Given the description of an element on the screen output the (x, y) to click on. 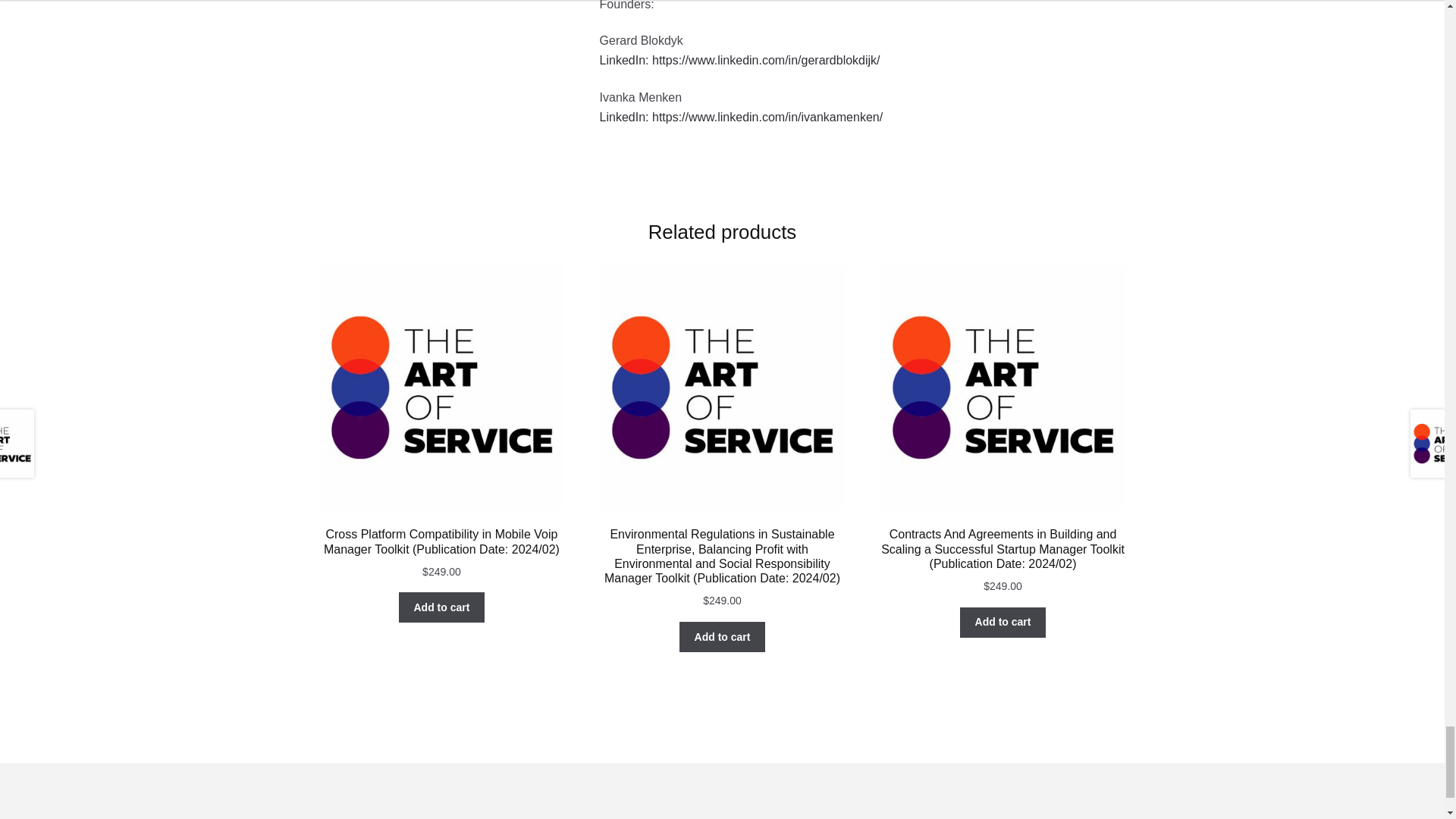
Add to cart (722, 636)
Add to cart (1002, 622)
Add to cart (441, 607)
